Given the description of an element on the screen output the (x, y) to click on. 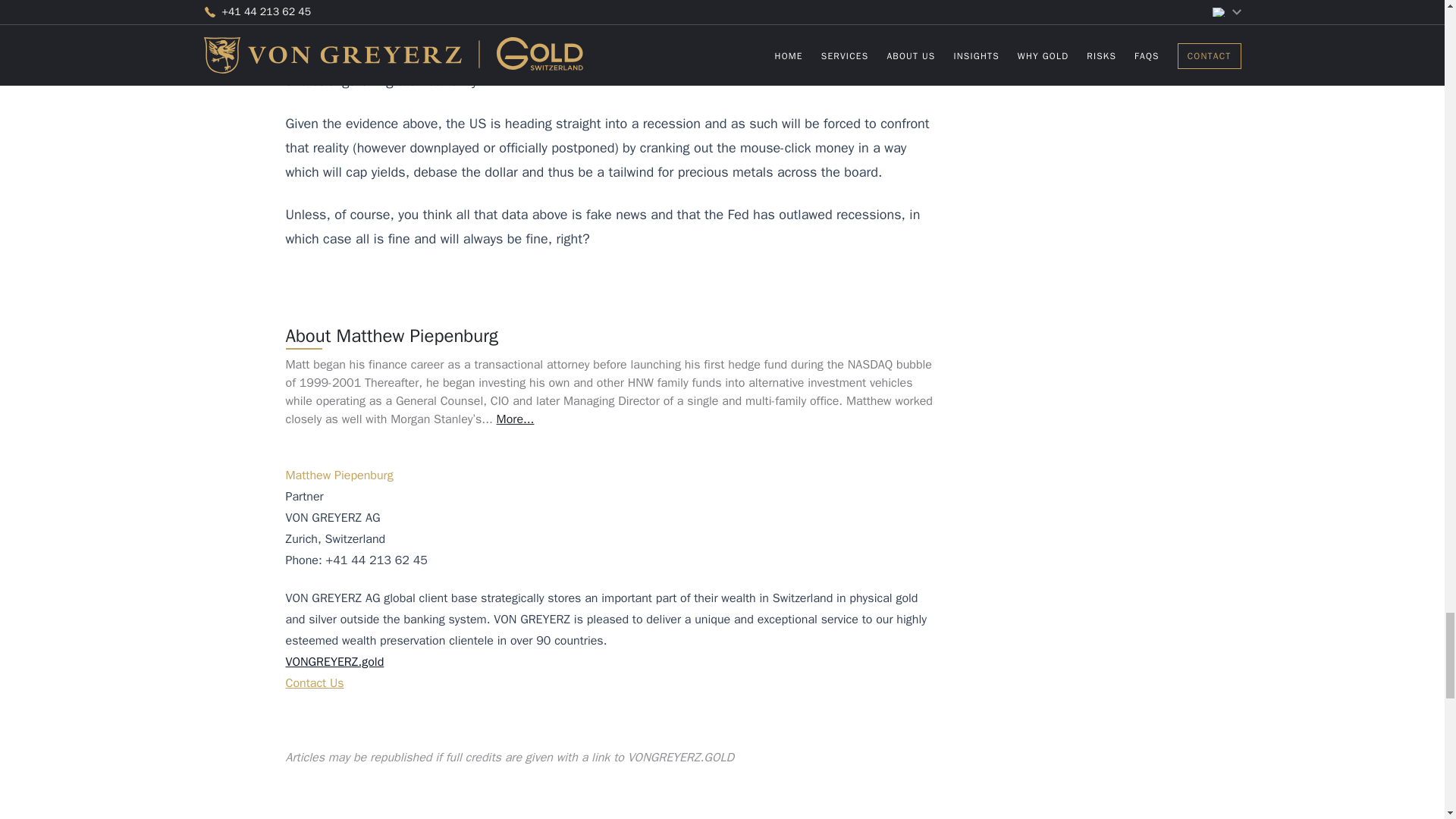
Contact Us (314, 683)
VONGREYERZ.gold (334, 661)
More... (515, 418)
